Given the description of an element on the screen output the (x, y) to click on. 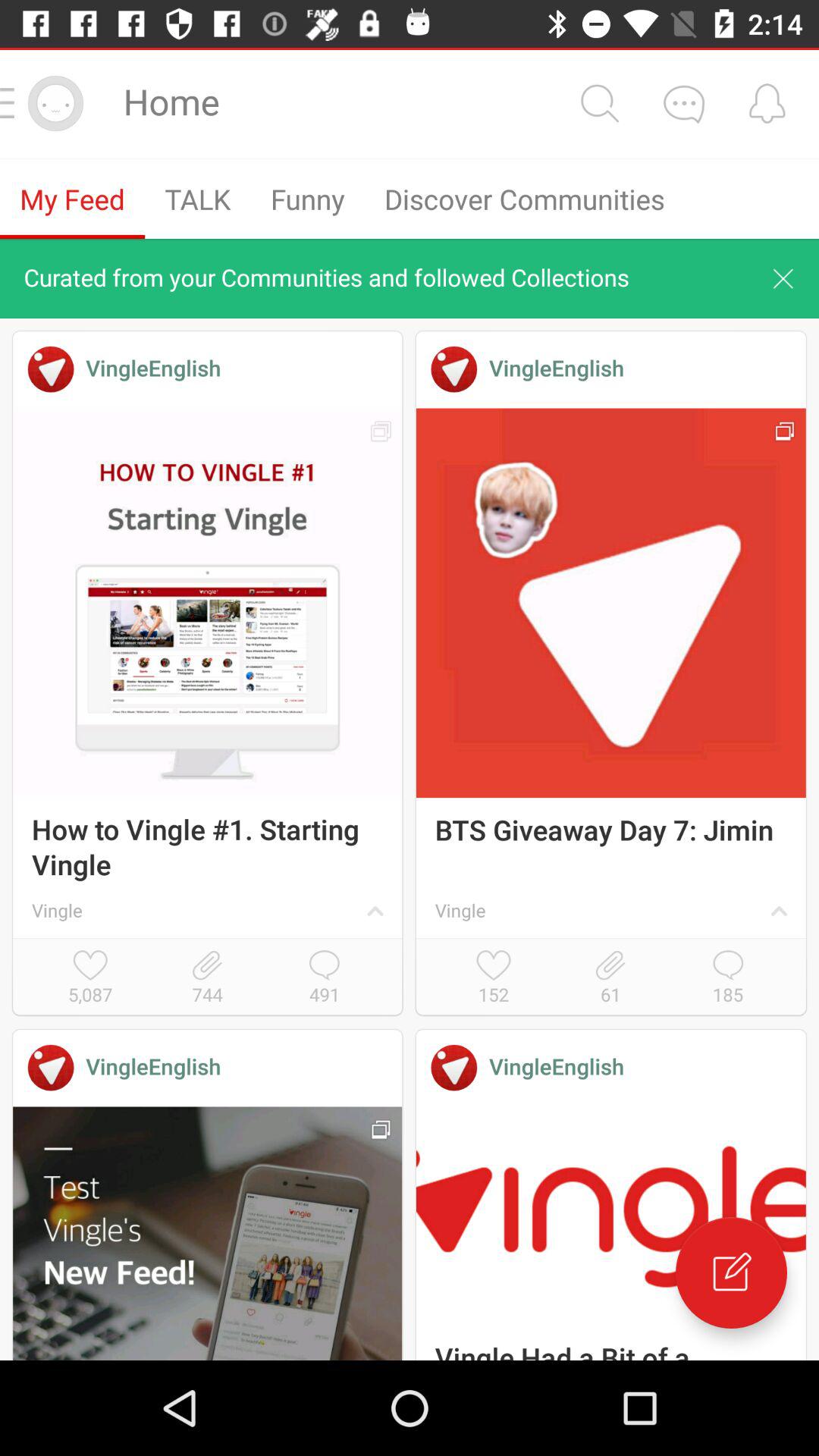
get alert (766, 103)
